Given the description of an element on the screen output the (x, y) to click on. 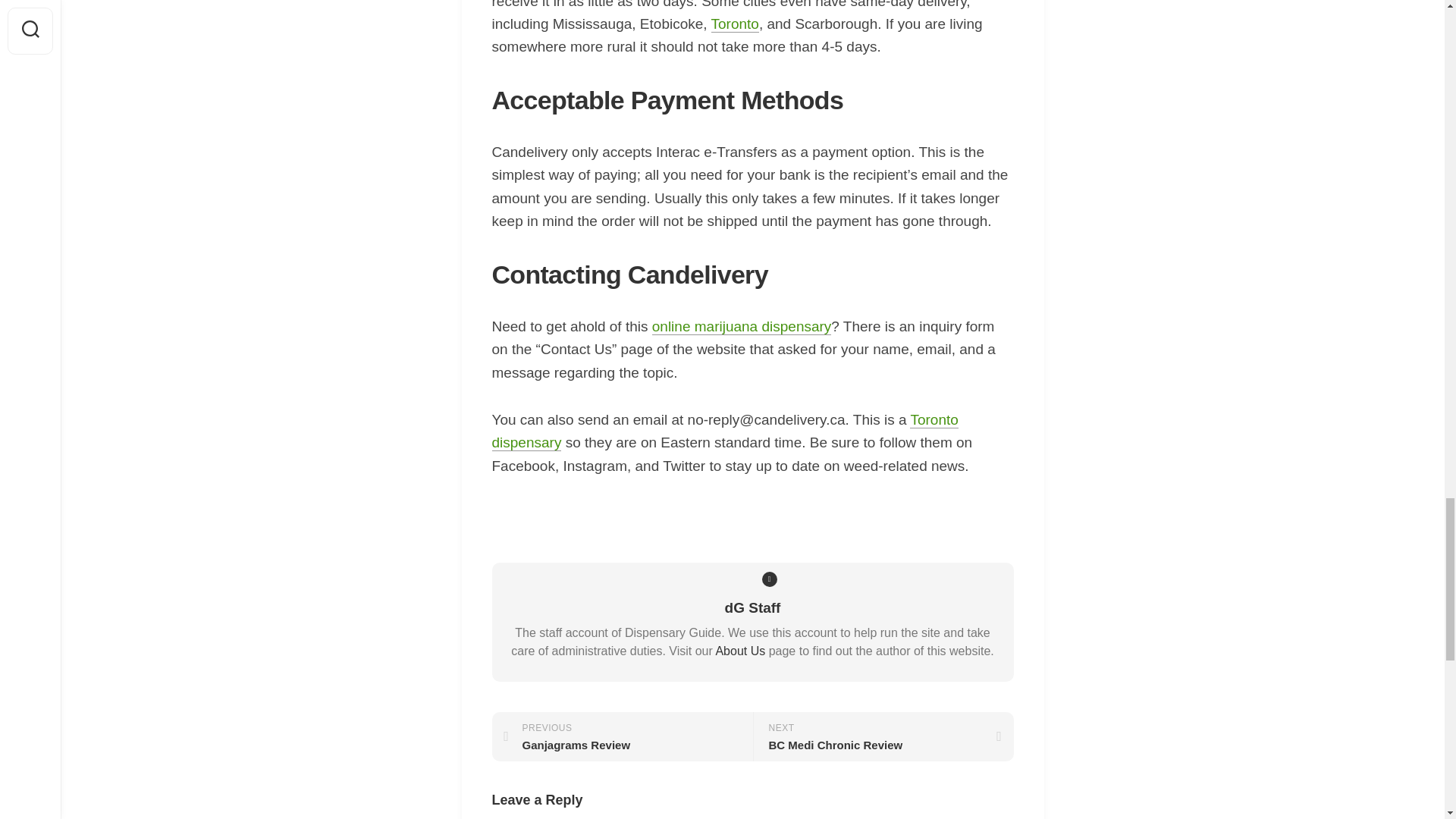
Toronto (734, 23)
About Us (622, 736)
online marijuana dispensary (739, 650)
Toronto dispensary (741, 326)
